Given the description of an element on the screen output the (x, y) to click on. 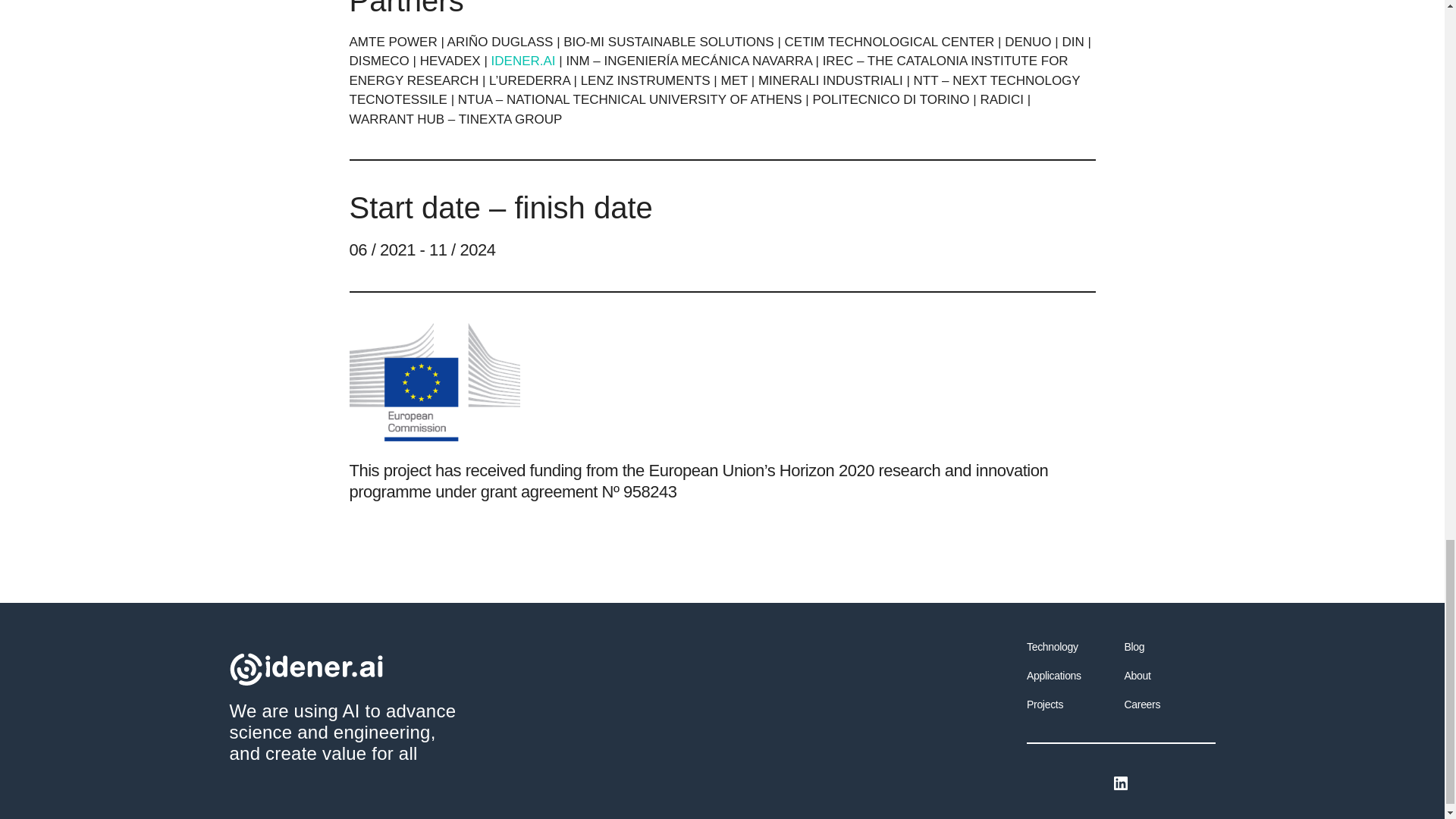
Careers (1142, 704)
Projects (1044, 704)
Applications (1053, 675)
Blog (1134, 646)
LinkedIn (1120, 782)
About (1137, 675)
Technology (1052, 646)
